Given the description of an element on the screen output the (x, y) to click on. 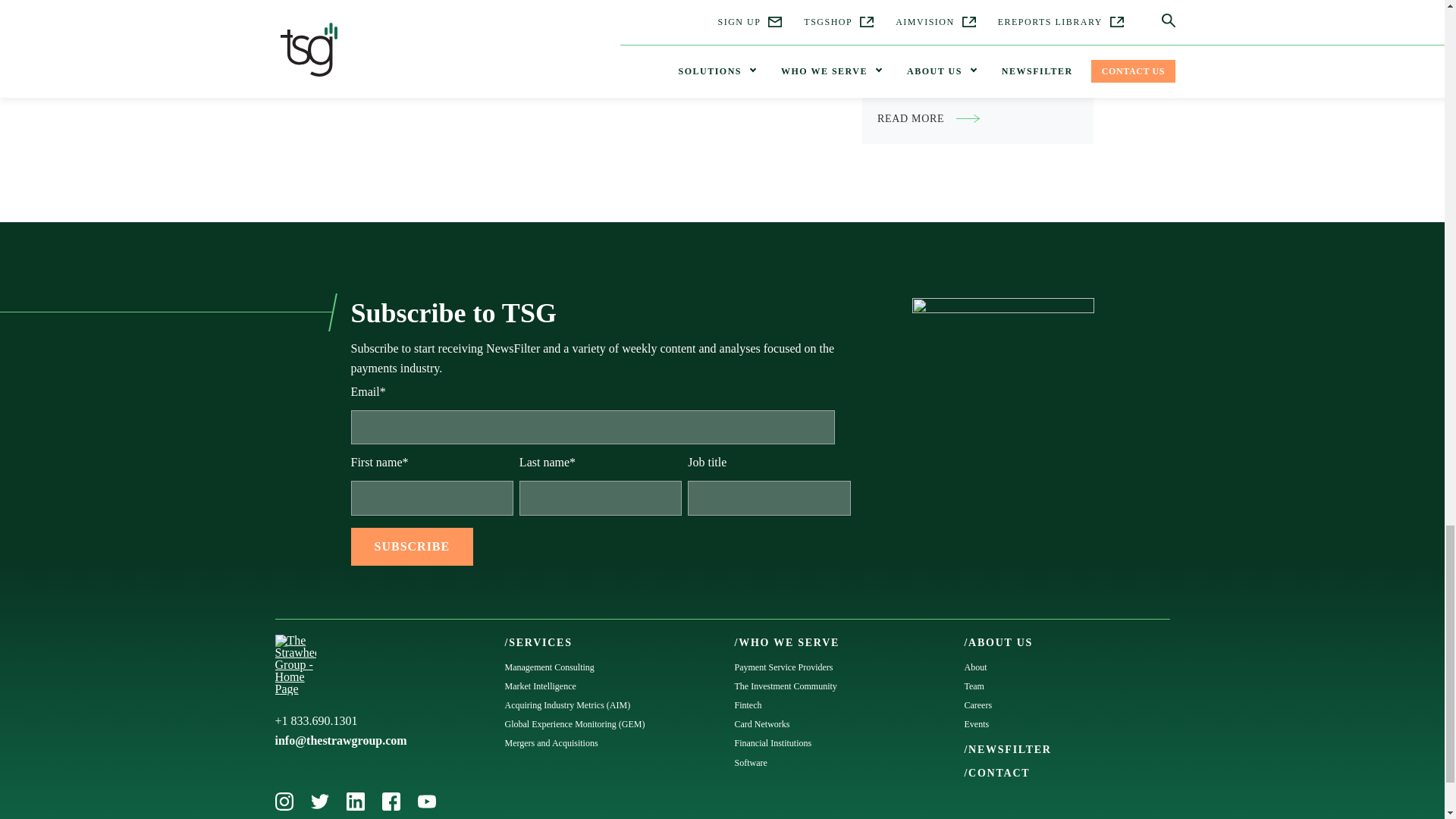
Subscribe (411, 546)
